Given the description of an element on the screen output the (x, y) to click on. 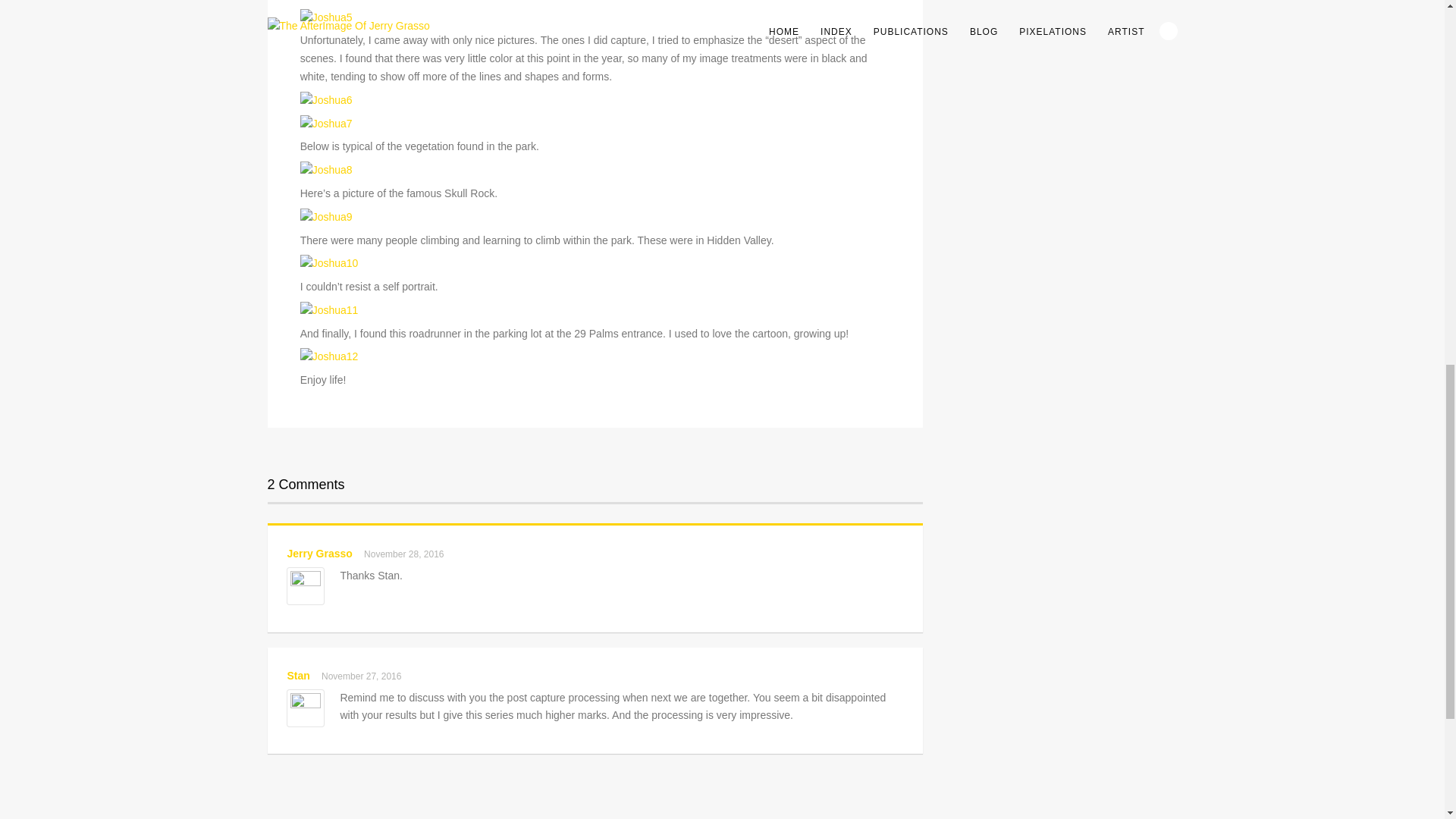
Joshua11 (328, 309)
Joshua5 (325, 17)
Joshua10 (328, 263)
Joshua8 (325, 169)
Joshua6 (325, 100)
Joshua7 (325, 123)
Joshua9 (325, 216)
Joshua12 (328, 356)
